Given the description of an element on the screen output the (x, y) to click on. 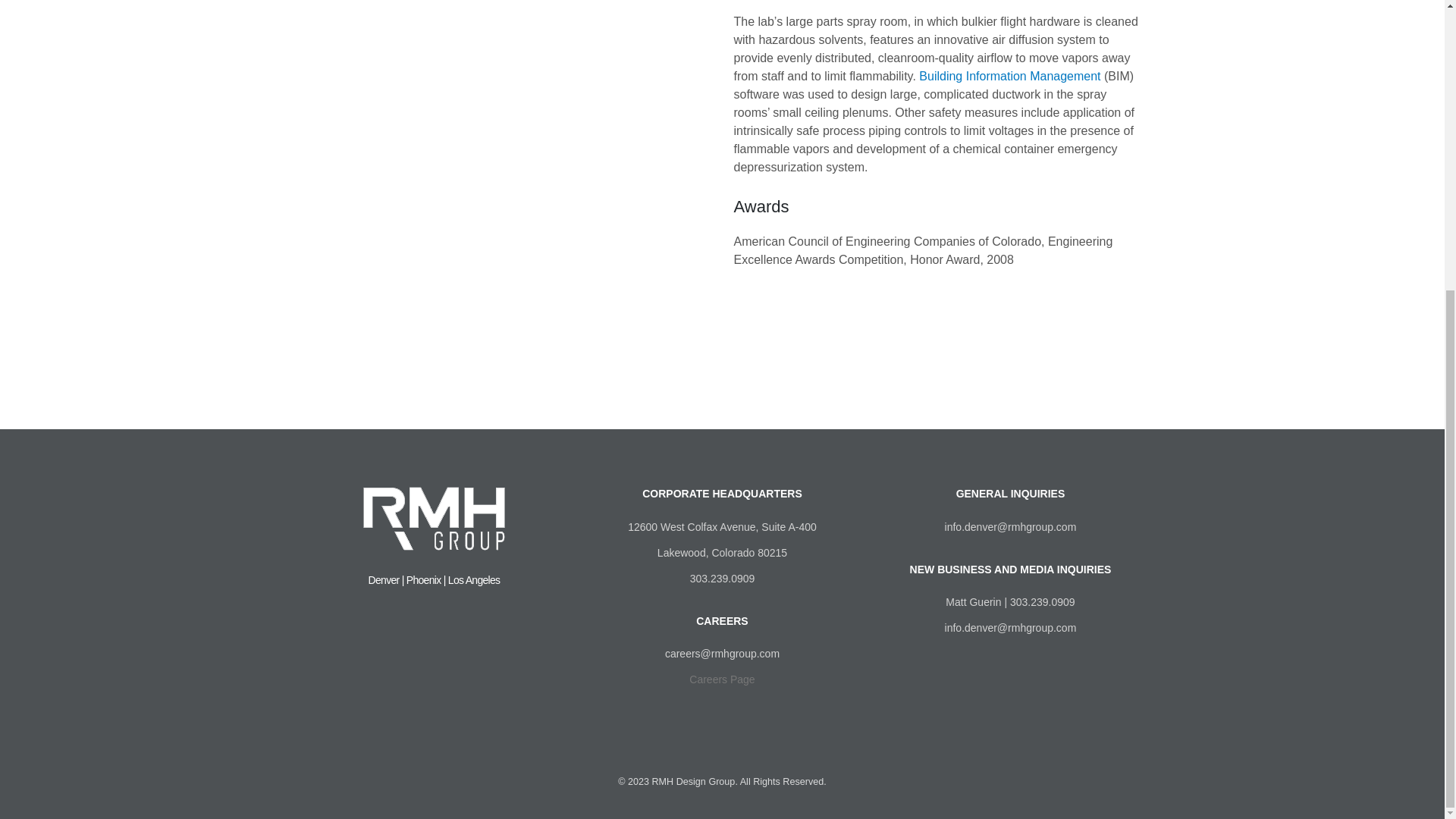
Building Information Management (1009, 75)
Careers Page (721, 679)
